Given the description of an element on the screen output the (x, y) to click on. 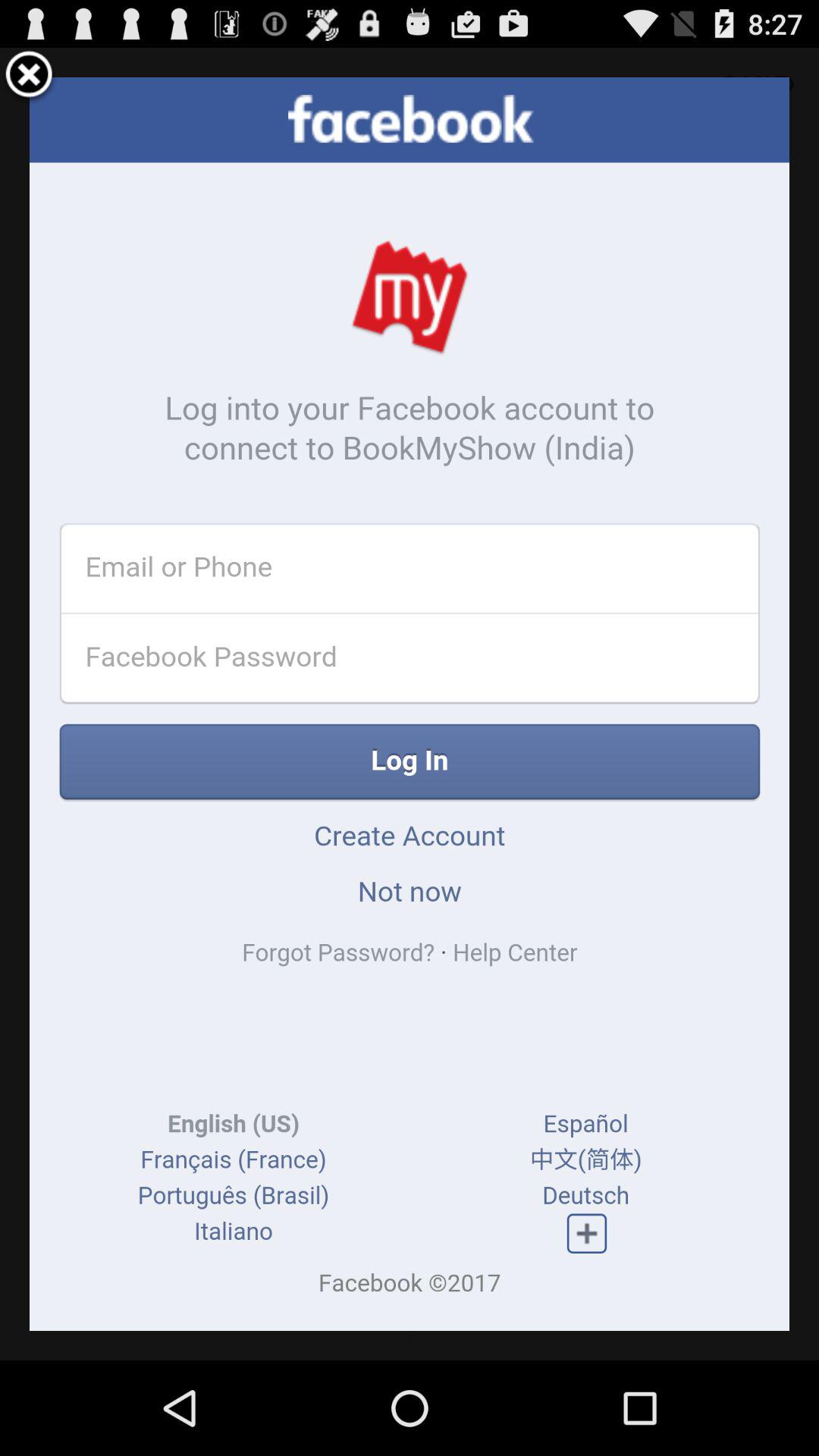
go to cancel (29, 76)
